Given the description of an element on the screen output the (x, y) to click on. 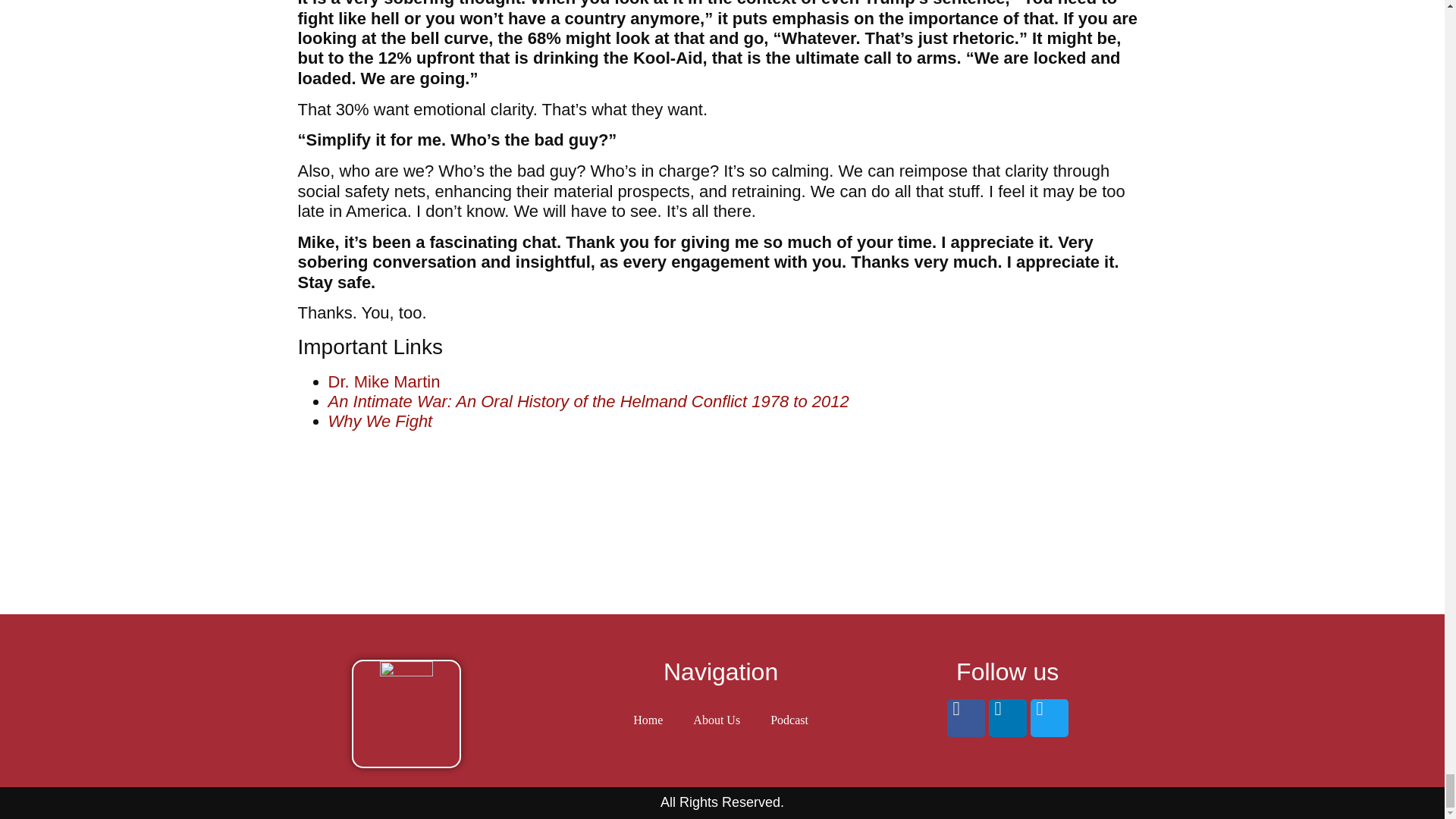
Home (647, 720)
Dr. Mike Martin (383, 381)
Why We Fight (379, 420)
About Us (716, 720)
Podcast (788, 720)
